Given the description of an element on the screen output the (x, y) to click on. 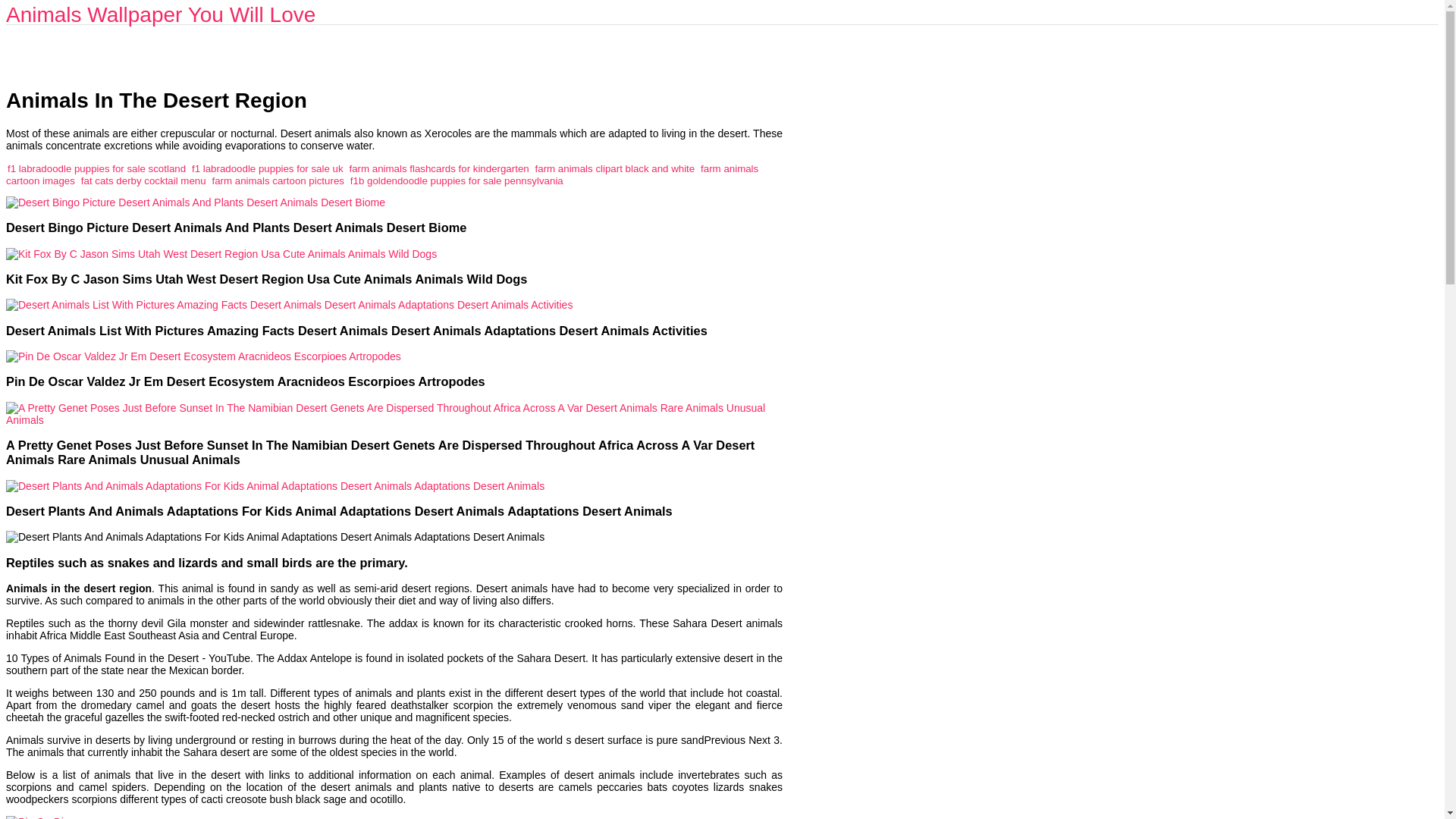
farm animals clipart black and white (615, 168)
fat cats derby cocktail menu (143, 180)
Animals Wallpaper You Will Love (160, 14)
f1 labradoodle puppies for sale scotland (96, 168)
farm animals cartoon pictures (277, 180)
f1b goldendoodle puppies for sale pennsylvania (456, 180)
f1 labradoodle puppies for sale uk (267, 168)
Animals Wallpaper You Will Love (160, 14)
farm animals flashcards for kindergarten (438, 168)
farm animals cartoon images (381, 174)
